Given the description of an element on the screen output the (x, y) to click on. 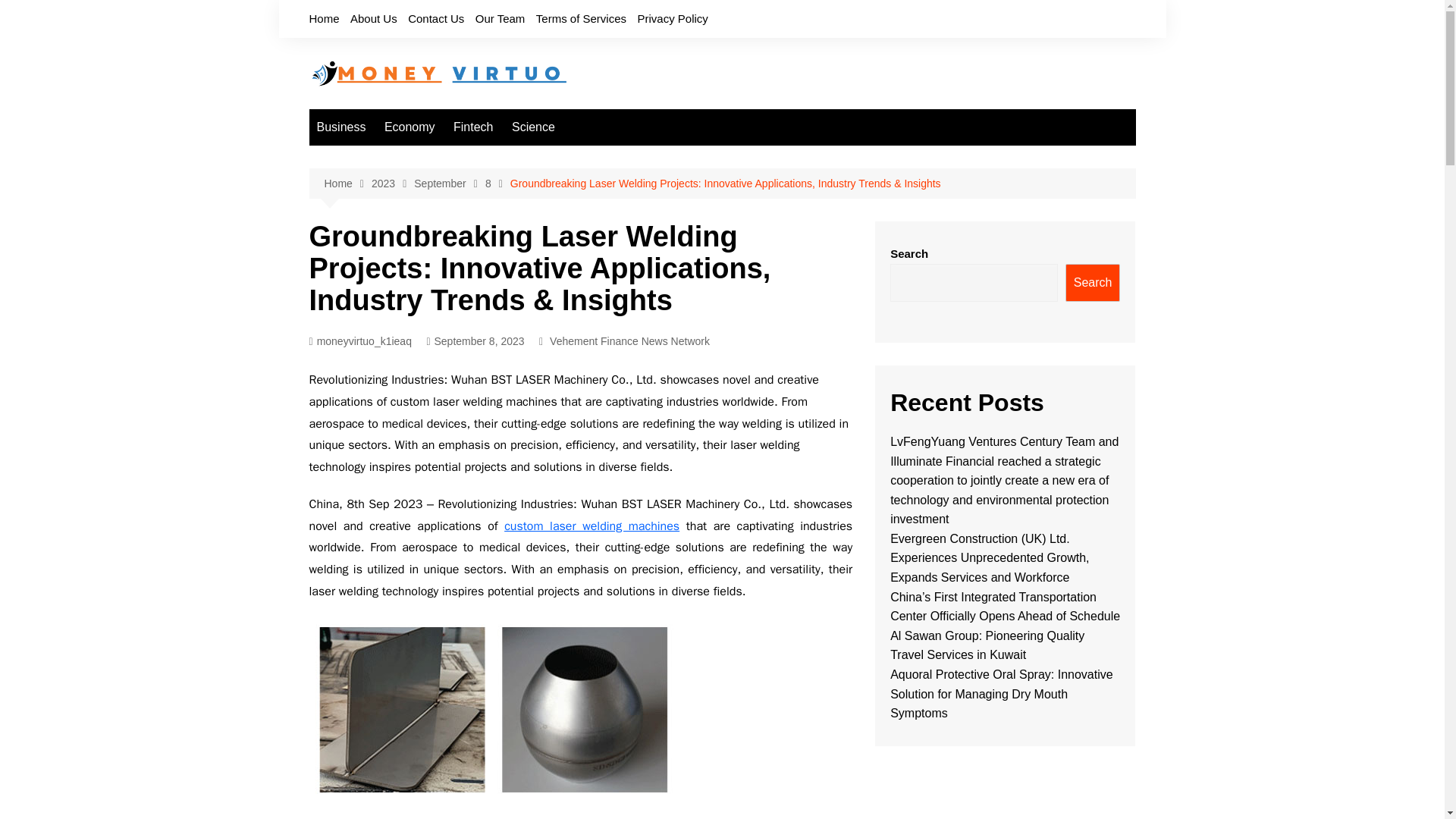
Economy (409, 126)
Home (347, 183)
Vehement Finance News Network (630, 340)
Home (323, 18)
Our Team (500, 18)
Business (341, 126)
September (448, 183)
September 8, 2023 (475, 341)
Fintech (472, 126)
2023 (392, 183)
8 (497, 183)
Privacy Policy (672, 18)
Contact Us (435, 18)
custom laser welding machines (591, 525)
About Us (373, 18)
